Given the description of an element on the screen output the (x, y) to click on. 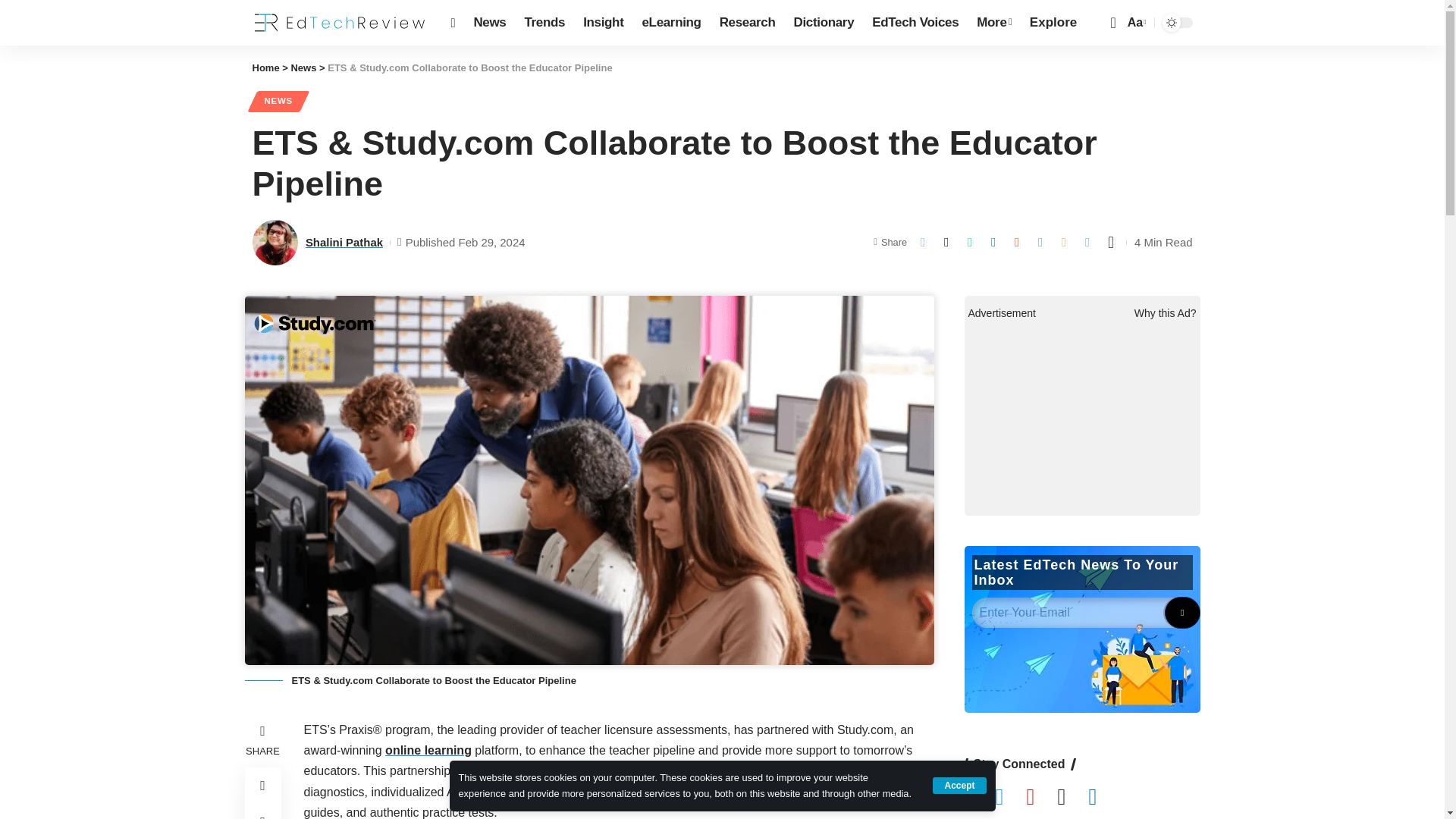
Follow EdTechReview on YouTube (1041, 797)
Trends (544, 22)
Research (747, 22)
Follow EdTechReview on Facebook (979, 797)
EdTech Voices (915, 22)
Dictionary (823, 22)
eLearning (670, 22)
Follow EdTechReview on Twitter (1010, 797)
Insight (602, 22)
Follow EdTechReview on LinkedIn (1103, 797)
